Given the description of an element on the screen output the (x, y) to click on. 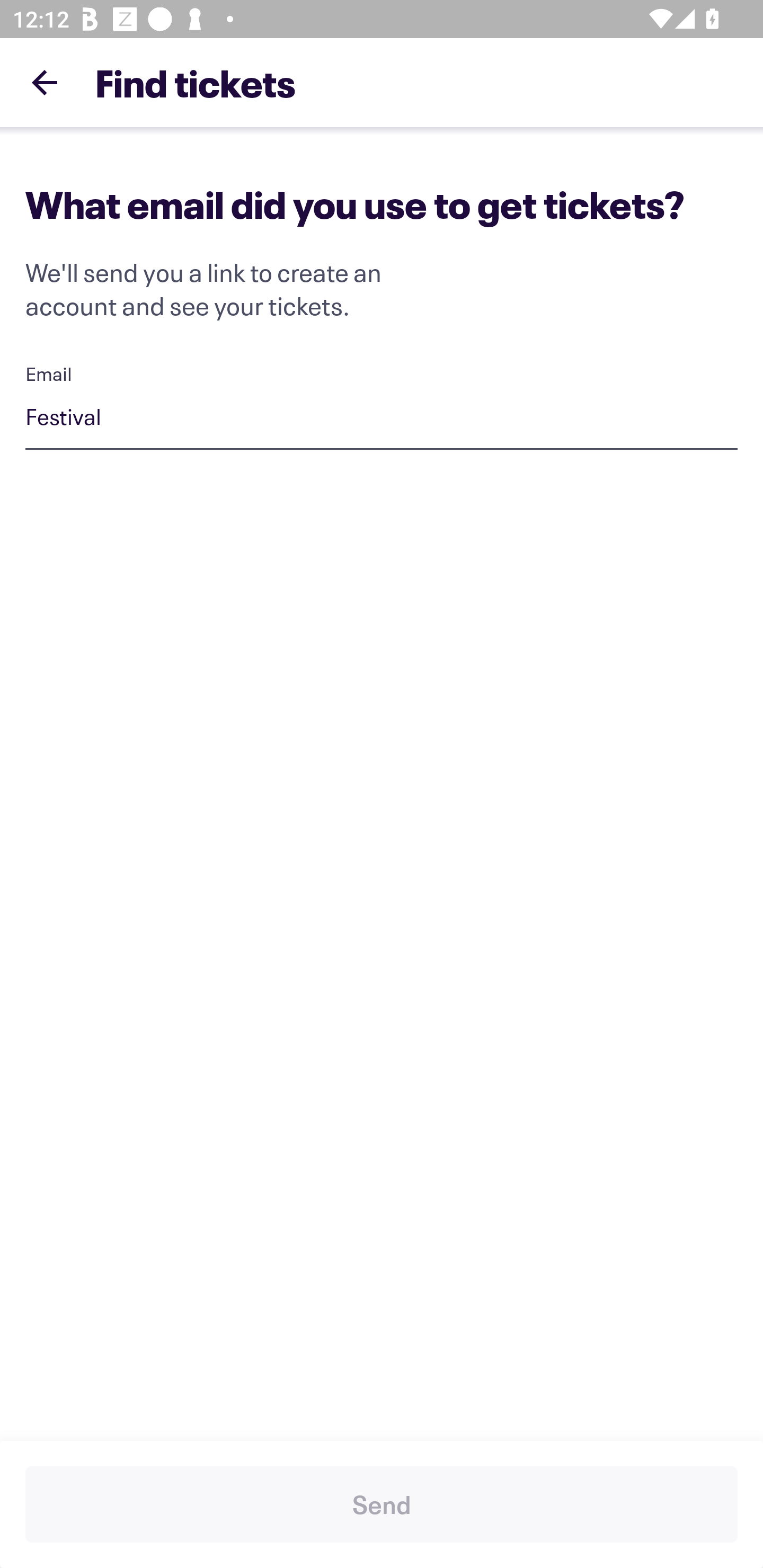
Navigate up (44, 82)
Festival (381, 419)
Send (381, 1504)
